Given the description of an element on the screen output the (x, y) to click on. 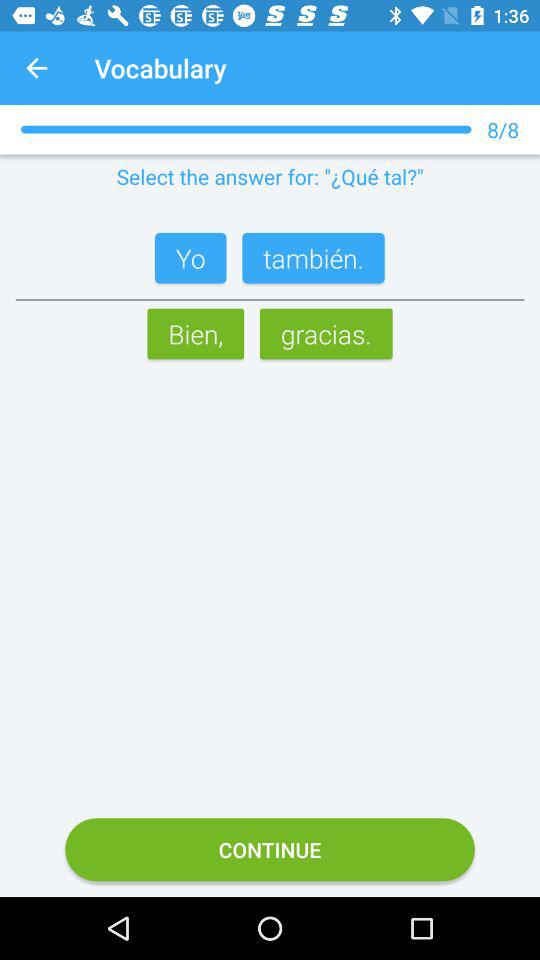
open continue icon (269, 849)
